Given the description of an element on the screen output the (x, y) to click on. 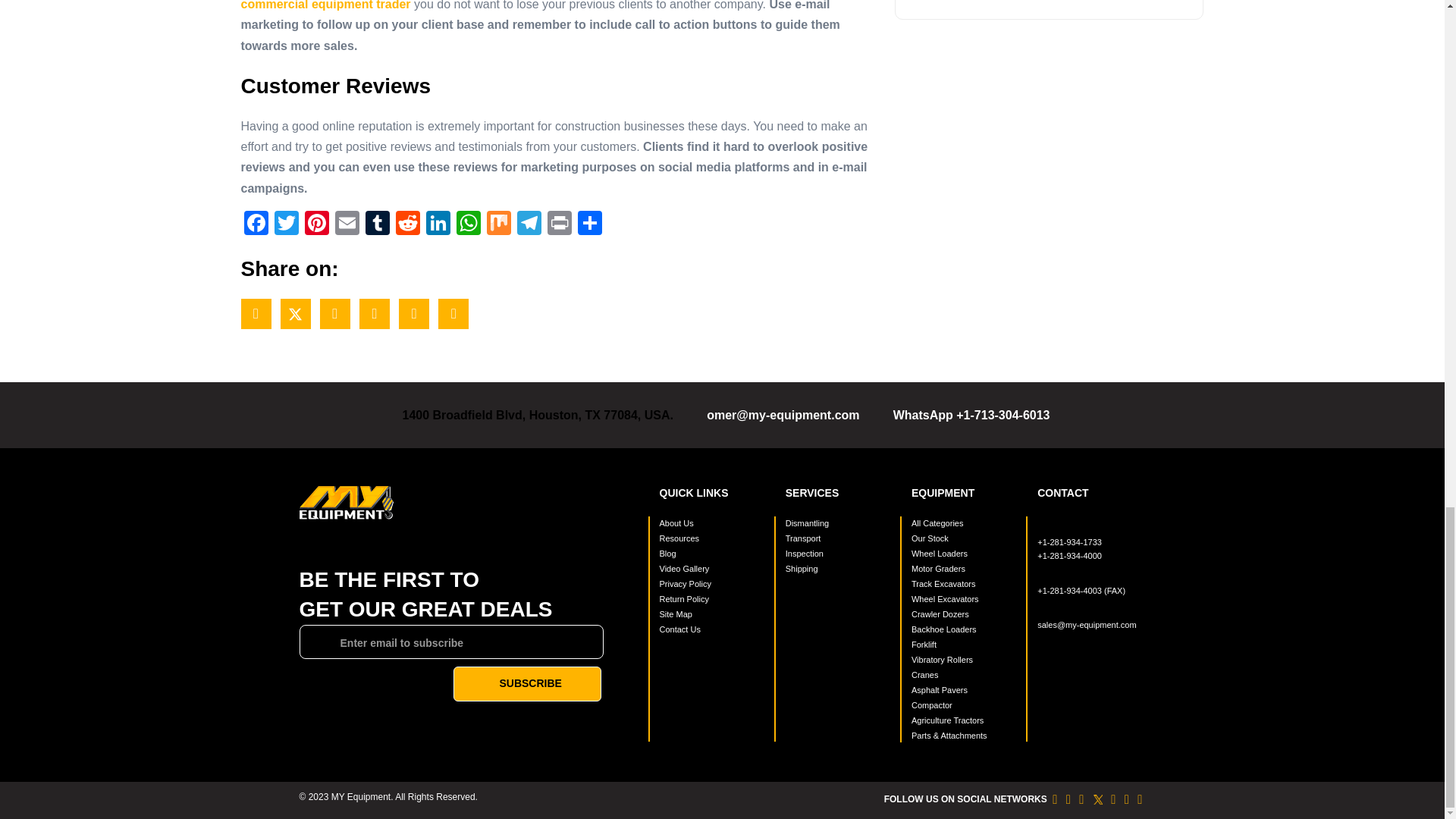
Forklift (965, 644)
Backhoe Loaders (965, 629)
Print (559, 224)
Tumblr (377, 224)
Motor Graders (965, 568)
Pinterest (316, 224)
Mix (498, 224)
LinkedIn (437, 224)
Track Excavators (965, 583)
Facebook (255, 224)
